Given the description of an element on the screen output the (x, y) to click on. 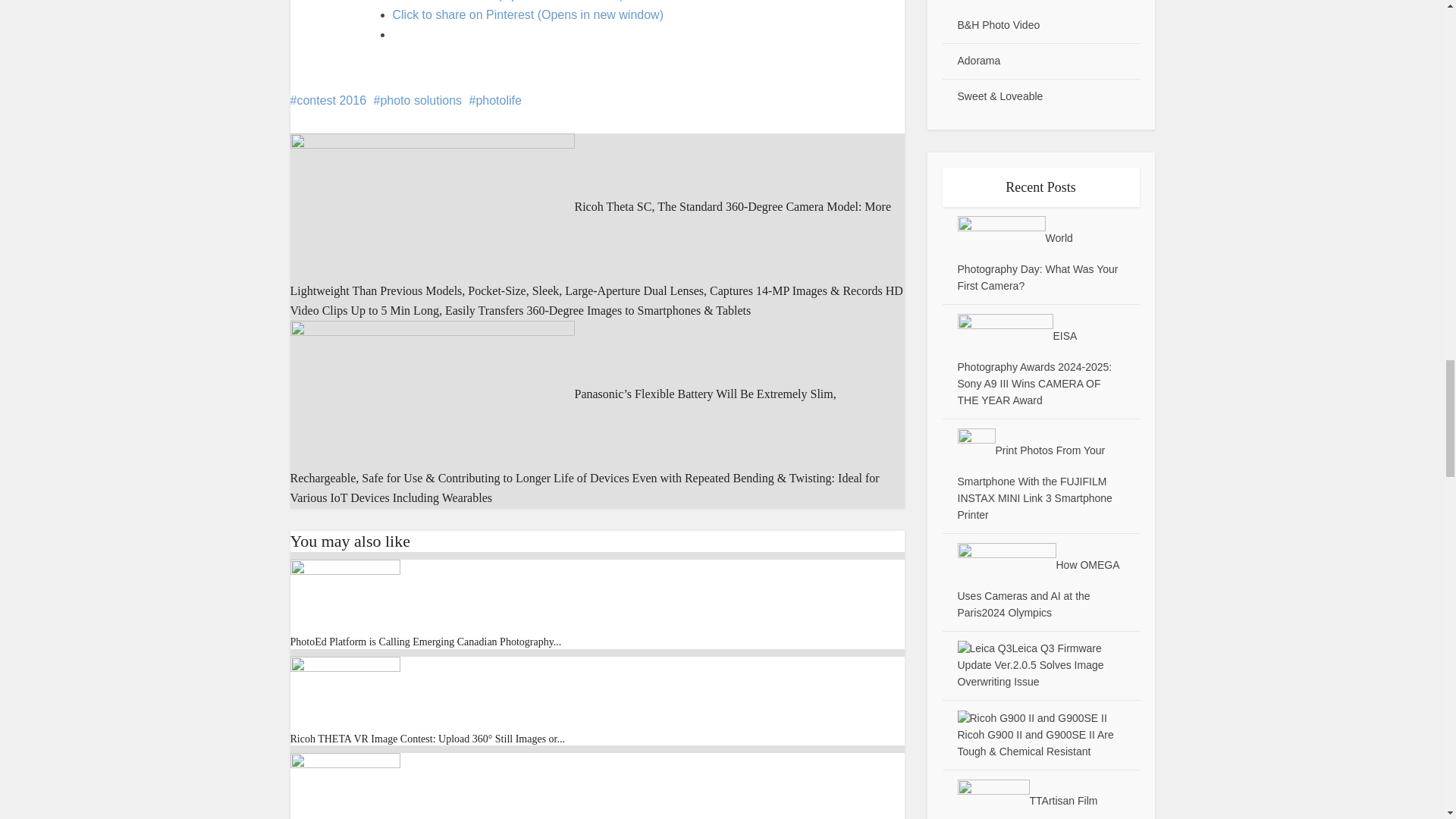
contest 2016 (327, 100)
Click to share on Pinterest (528, 14)
photolife (494, 100)
PhotoEd Platform is Calling Emerging Canadian Photography... (424, 641)
photo solutions (416, 100)
